Given the description of an element on the screen output the (x, y) to click on. 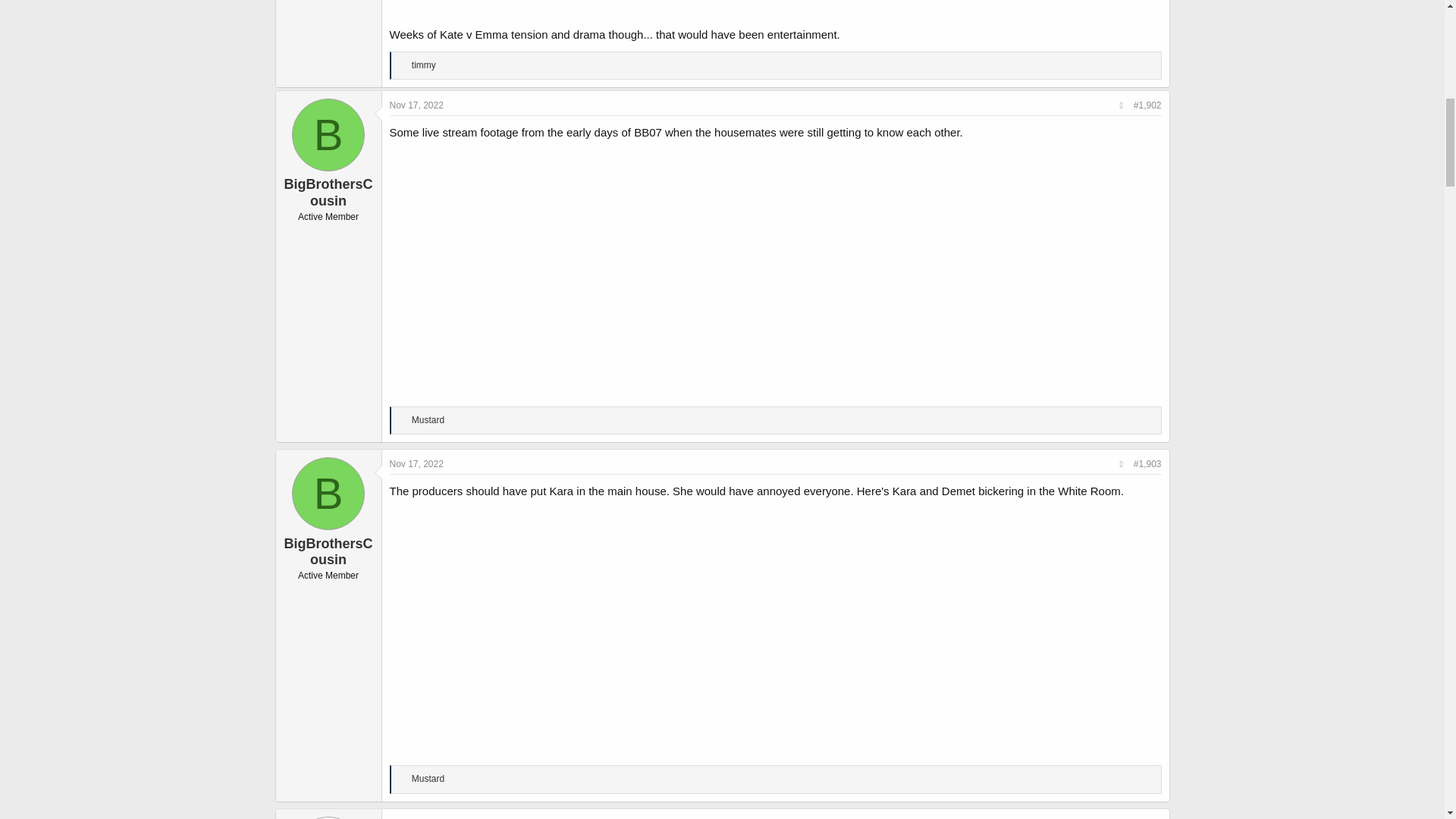
Nov 23, 2022 at 8:38 PM (417, 818)
Nov 17, 2022 at 11:01 AM (417, 104)
Like (403, 779)
Like (403, 65)
Nov 17, 2022 at 11:06 AM (417, 463)
Like (403, 420)
